Given the description of an element on the screen output the (x, y) to click on. 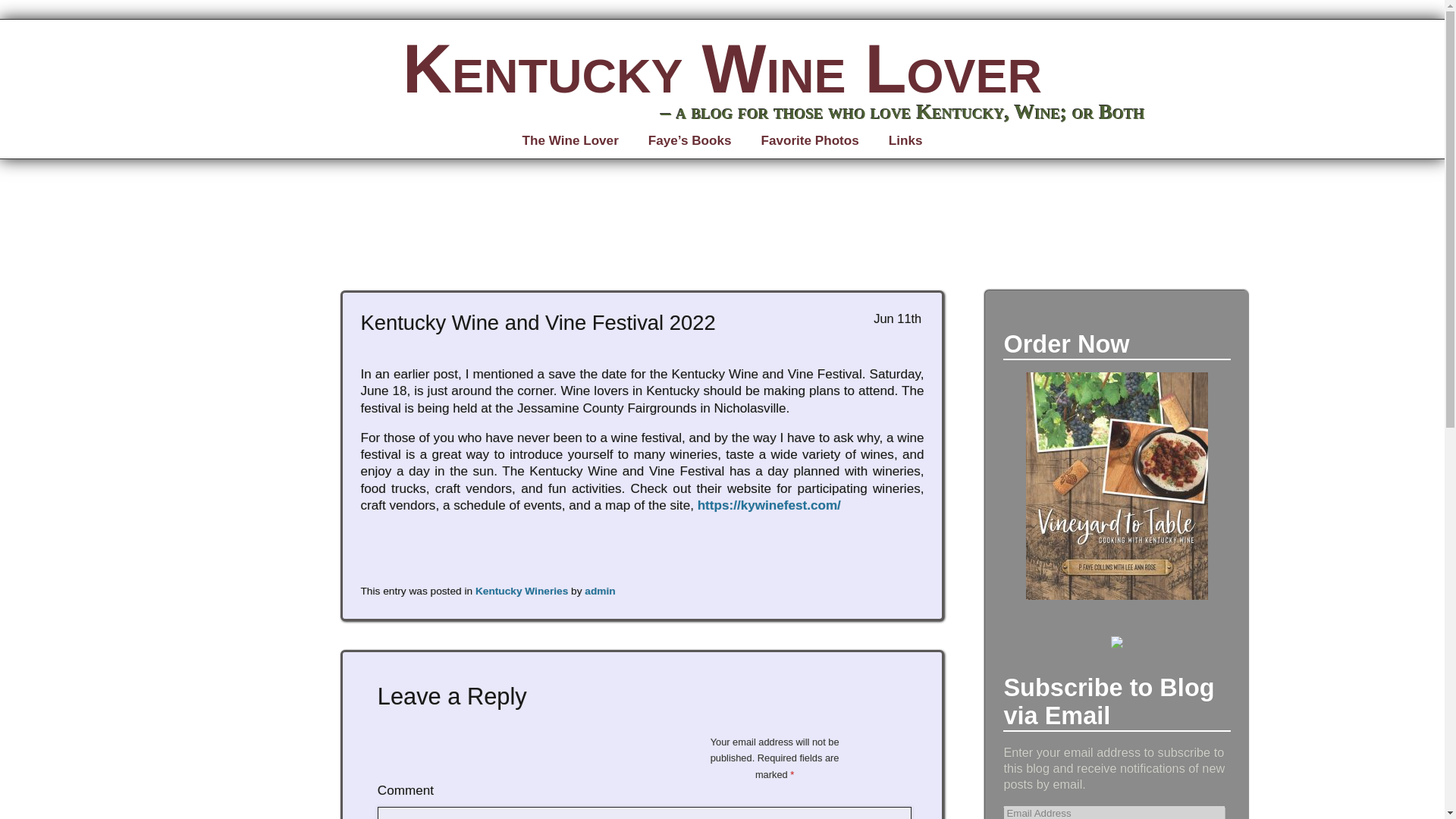
Kentucky Wine Lover (722, 69)
The Wine Lover (570, 140)
Links (905, 140)
admin (599, 591)
Favorite Photos (809, 140)
Kentucky Wineries (521, 591)
Posts by admin (599, 591)
